Given the description of an element on the screen output the (x, y) to click on. 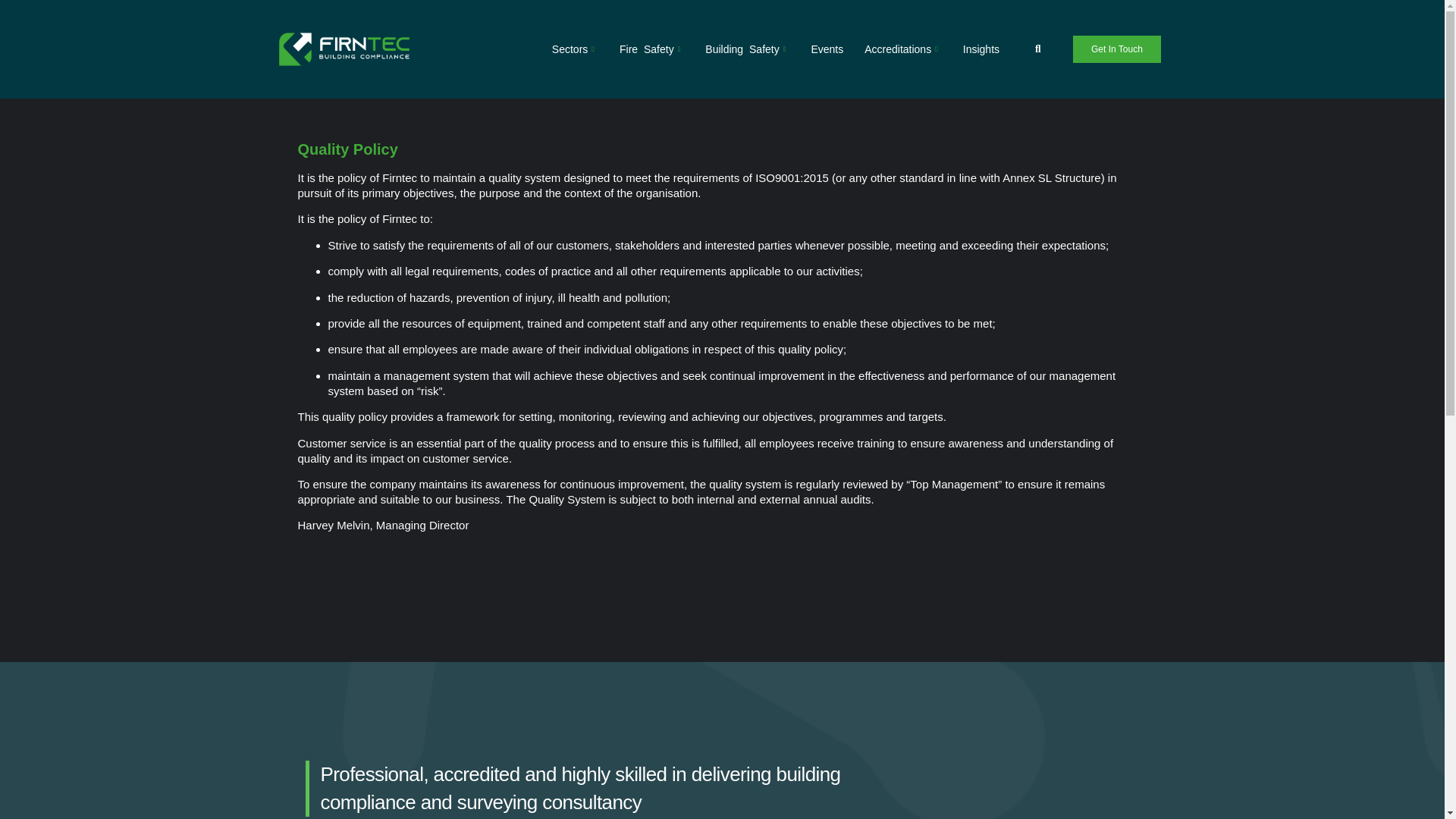
Fire Safety (651, 49)
Insights (981, 49)
Events (826, 49)
Accreditations (902, 49)
Sectors (574, 49)
Building Safety (746, 49)
